Given the description of an element on the screen output the (x, y) to click on. 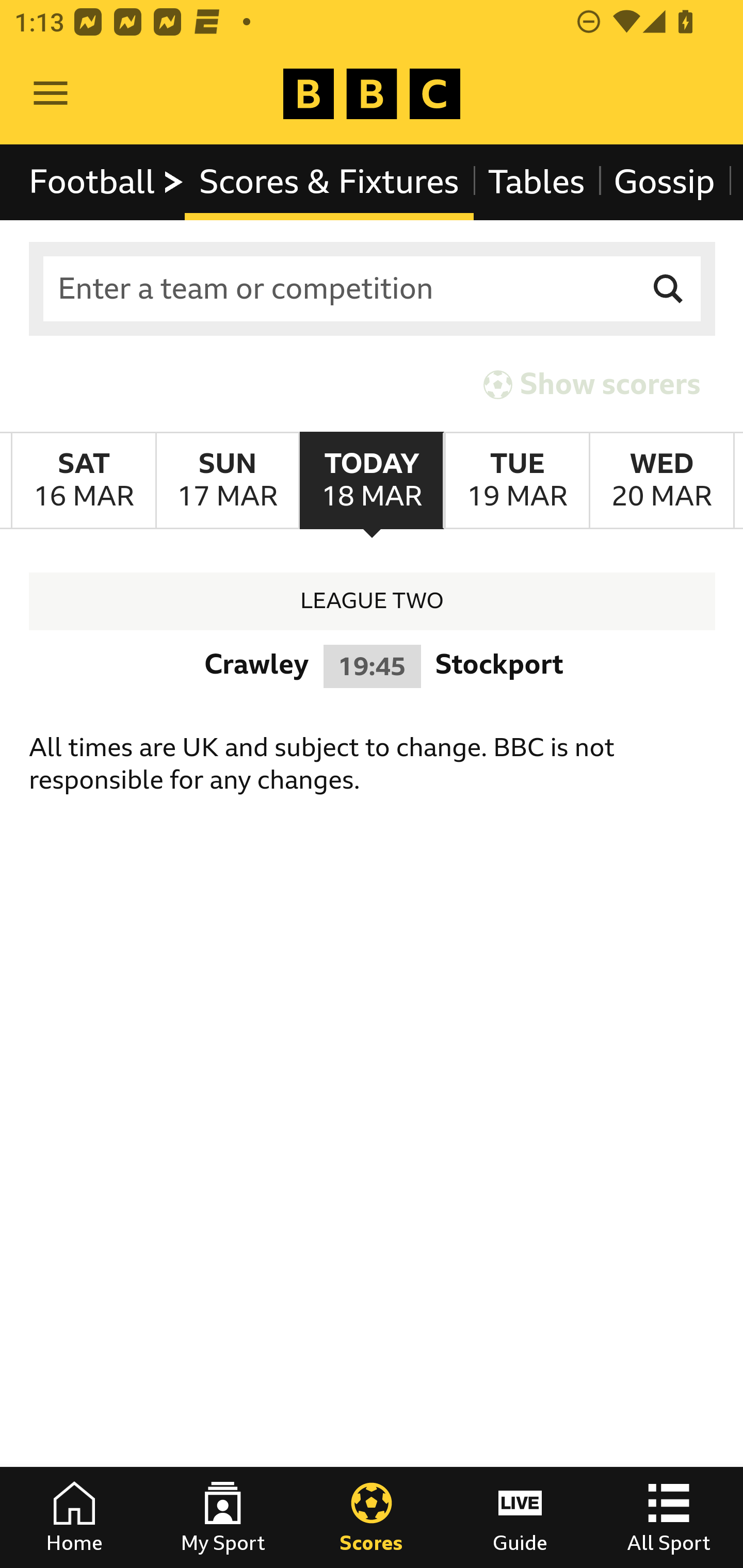
Open Menu (50, 93)
Football  (106, 181)
Scores & Fixtures (329, 181)
Tables (536, 181)
Gossip (664, 181)
Search (669, 289)
Show scorers (591, 383)
SaturdayMarch 16th Saturday March 16th (83, 480)
SundayMarch 17th Sunday March 17th (227, 480)
TuesdayMarch 19th Tuesday March 19th (516, 480)
WednesdayMarch 20th Wednesday March 20th (661, 480)
Home (74, 1517)
My Sport (222, 1517)
Guide (519, 1517)
All Sport (668, 1517)
